Given the description of an element on the screen output the (x, y) to click on. 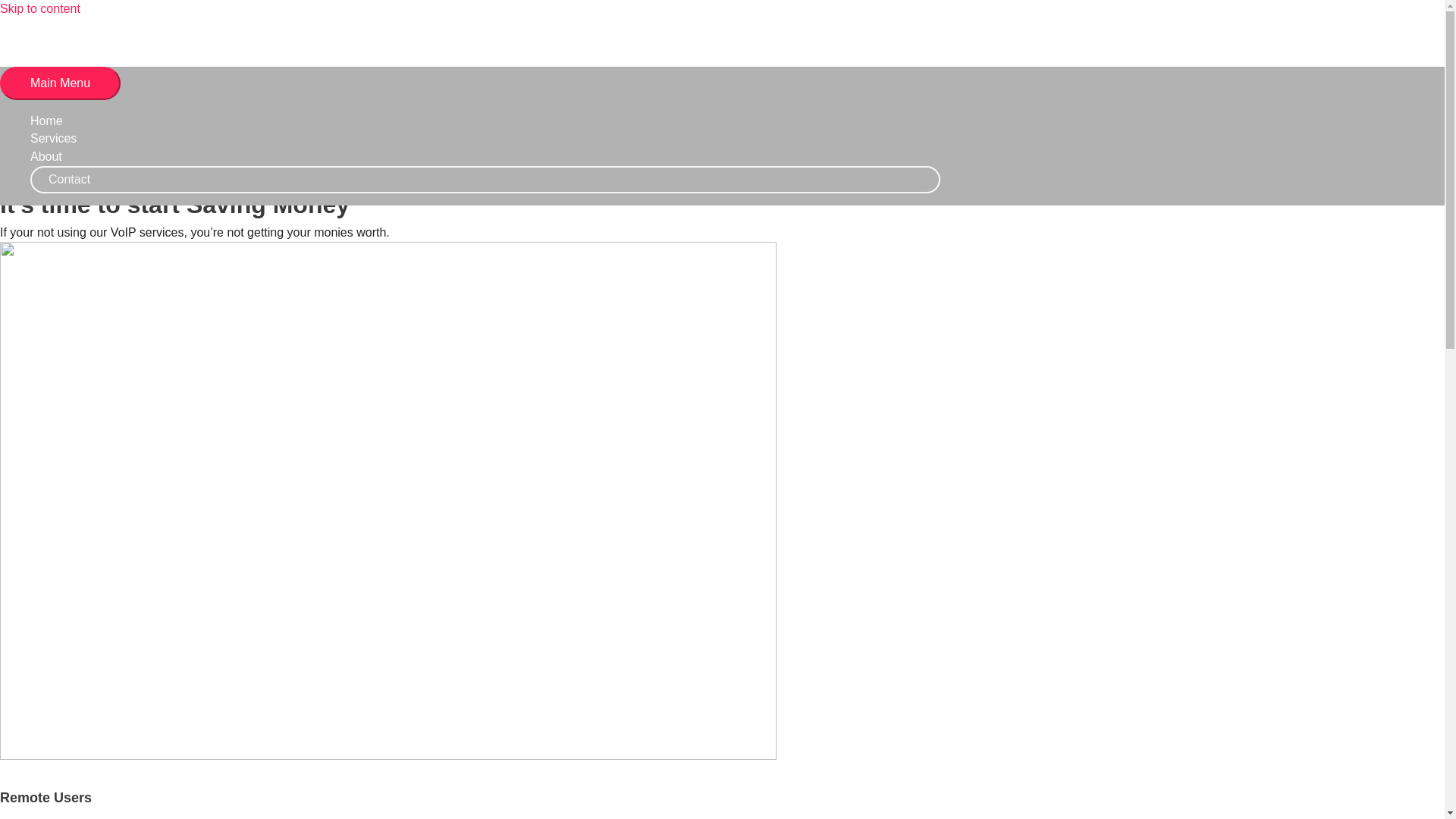
Home (485, 121)
Skip to content (40, 8)
Services (485, 138)
Contact (485, 179)
Skip to content (40, 8)
Main Menu (60, 82)
About (485, 157)
